Given the description of an element on the screen output the (x, y) to click on. 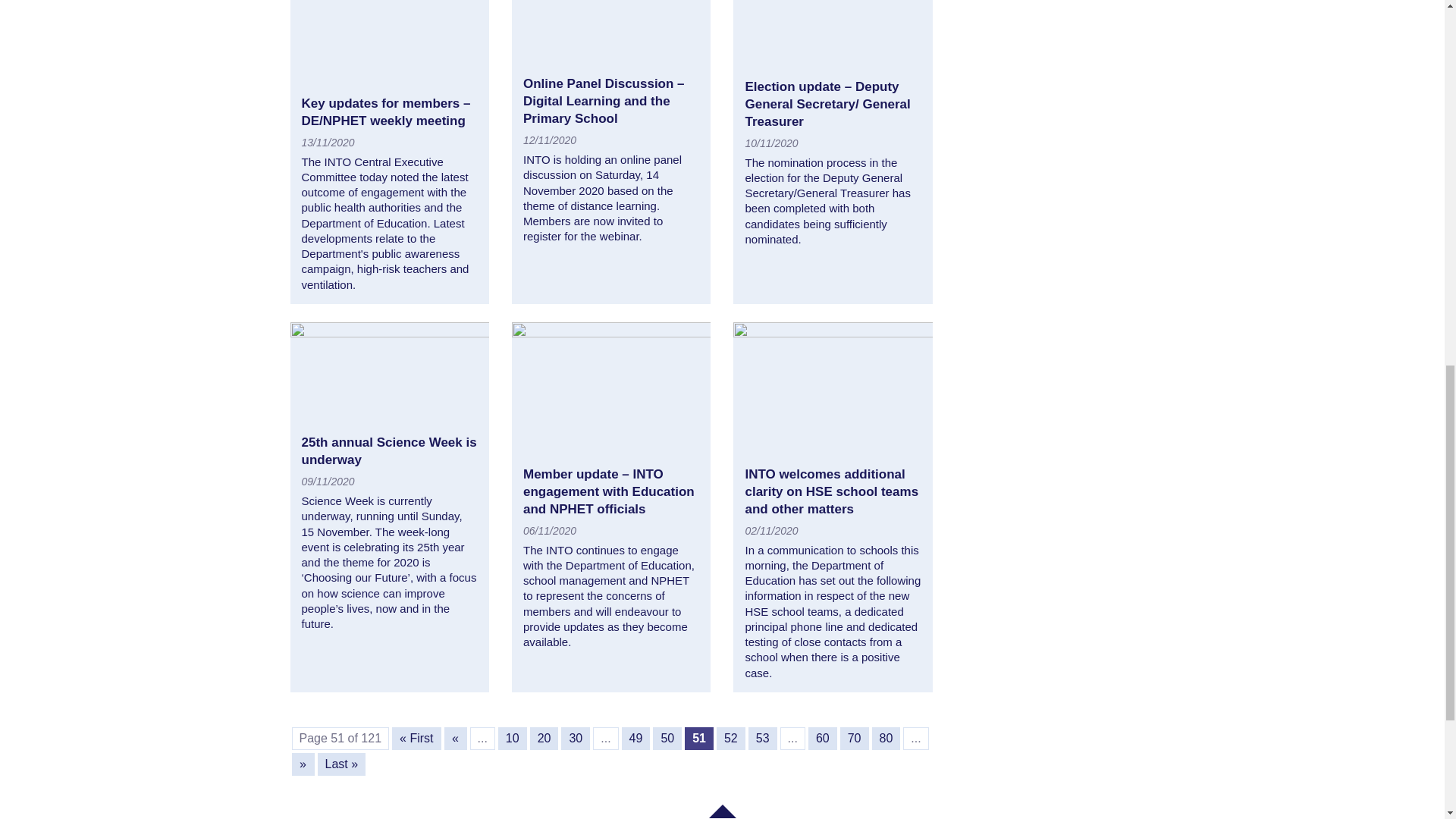
Back to top (721, 811)
Page 30 (574, 738)
70 (854, 738)
53 (762, 738)
30 (574, 738)
25th annual Science Week is underway (389, 450)
20 (544, 738)
Page 52 (730, 738)
50 (666, 738)
Page 49 (635, 738)
10 (512, 738)
Page 80 (886, 738)
49 (635, 738)
Page 70 (854, 738)
